Given the description of an element on the screen output the (x, y) to click on. 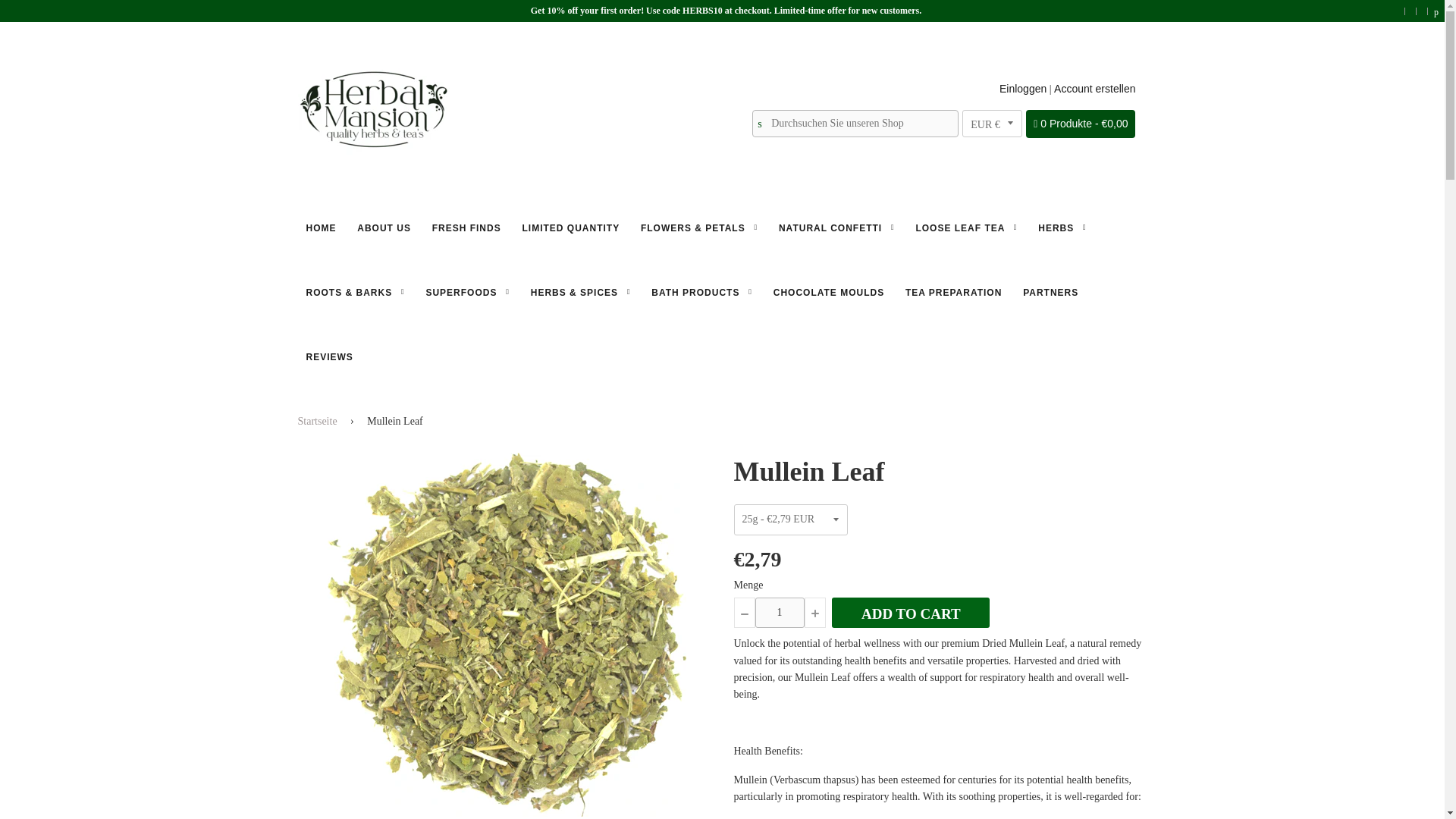
1 (780, 612)
